Given the description of an element on the screen output the (x, y) to click on. 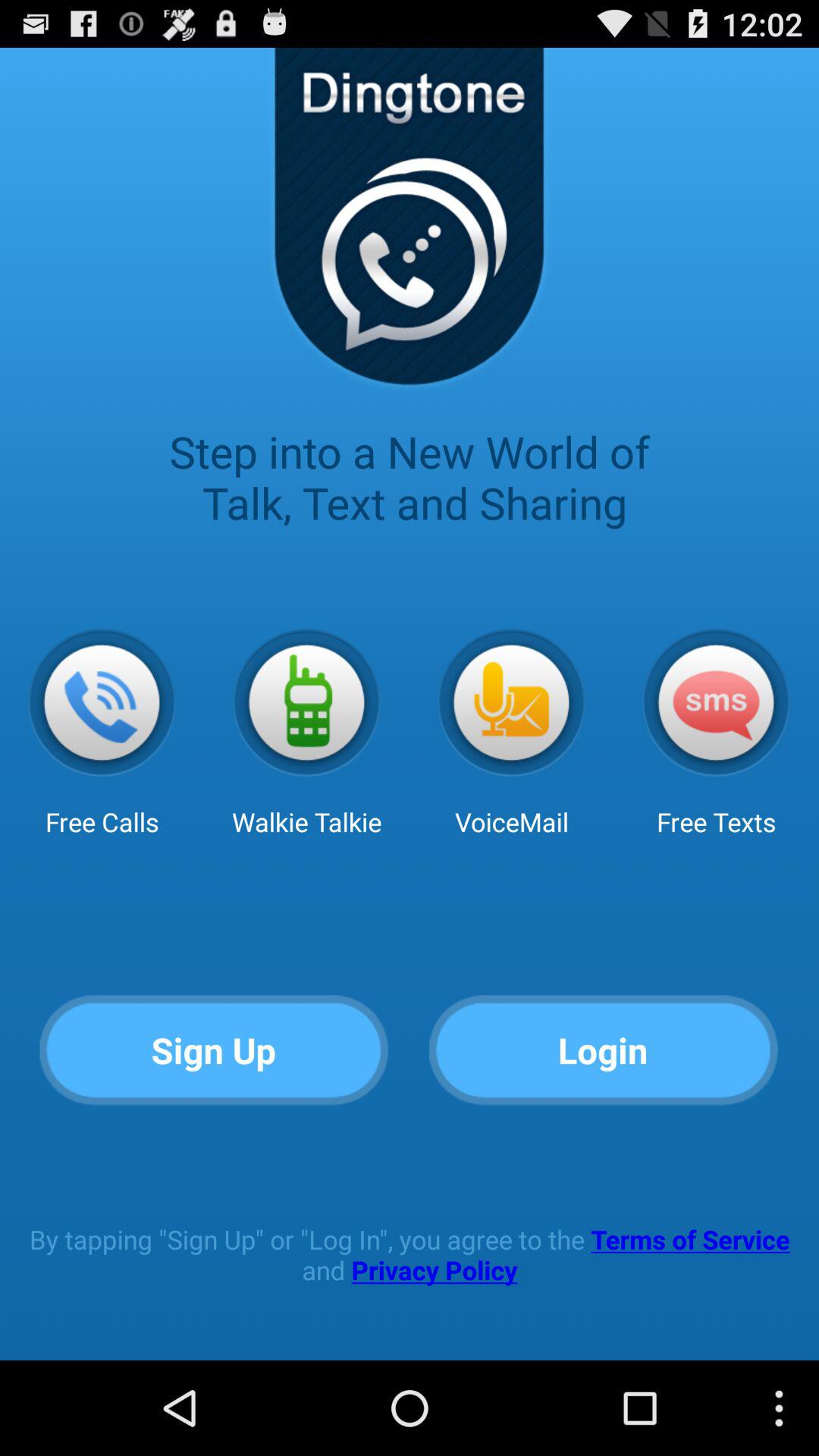
tap app below voicemail (604, 1050)
